Given the description of an element on the screen output the (x, y) to click on. 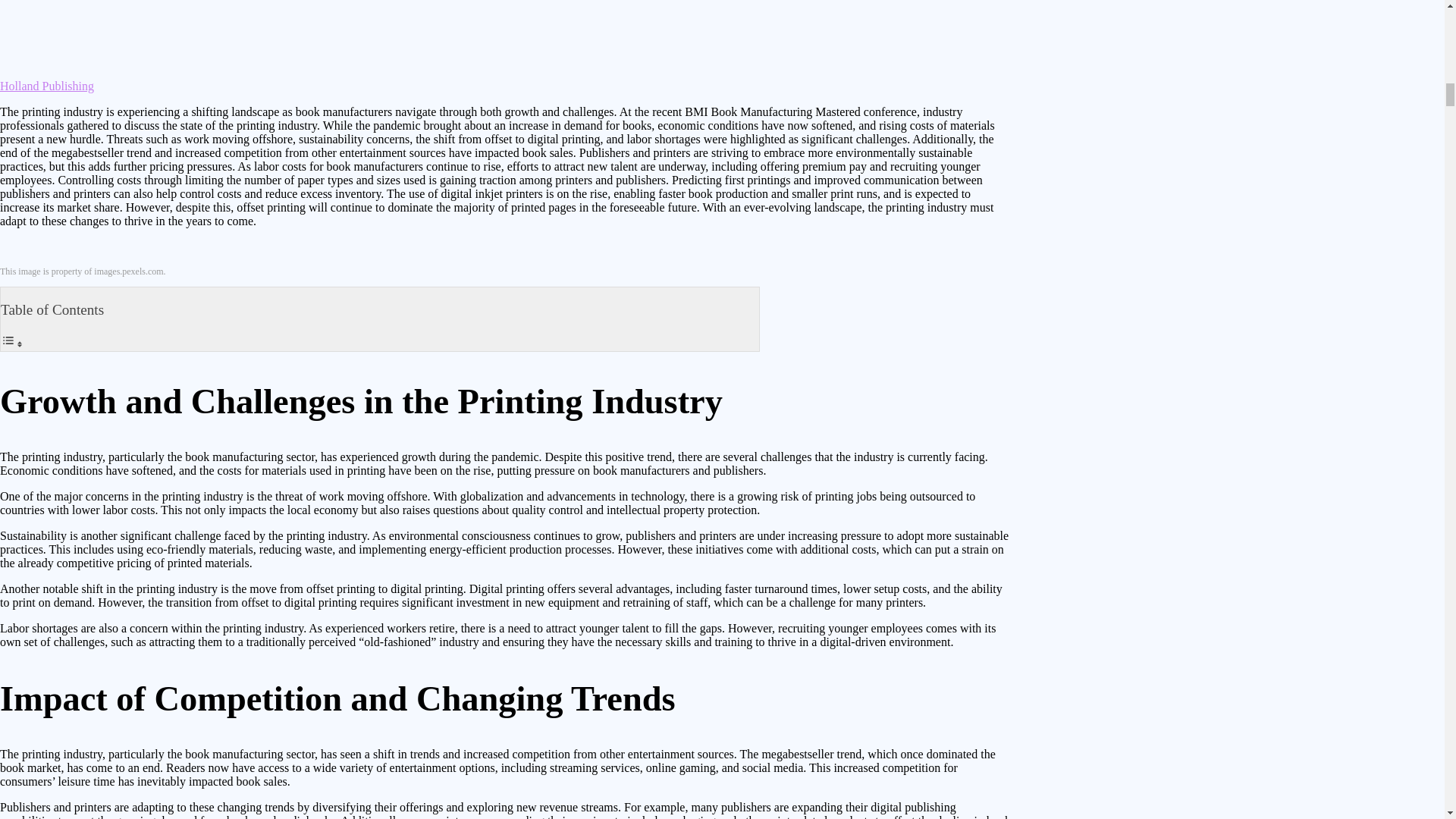
Holland Publishing (47, 85)
Holland Publishing (47, 85)
